Given the description of an element on the screen output the (x, y) to click on. 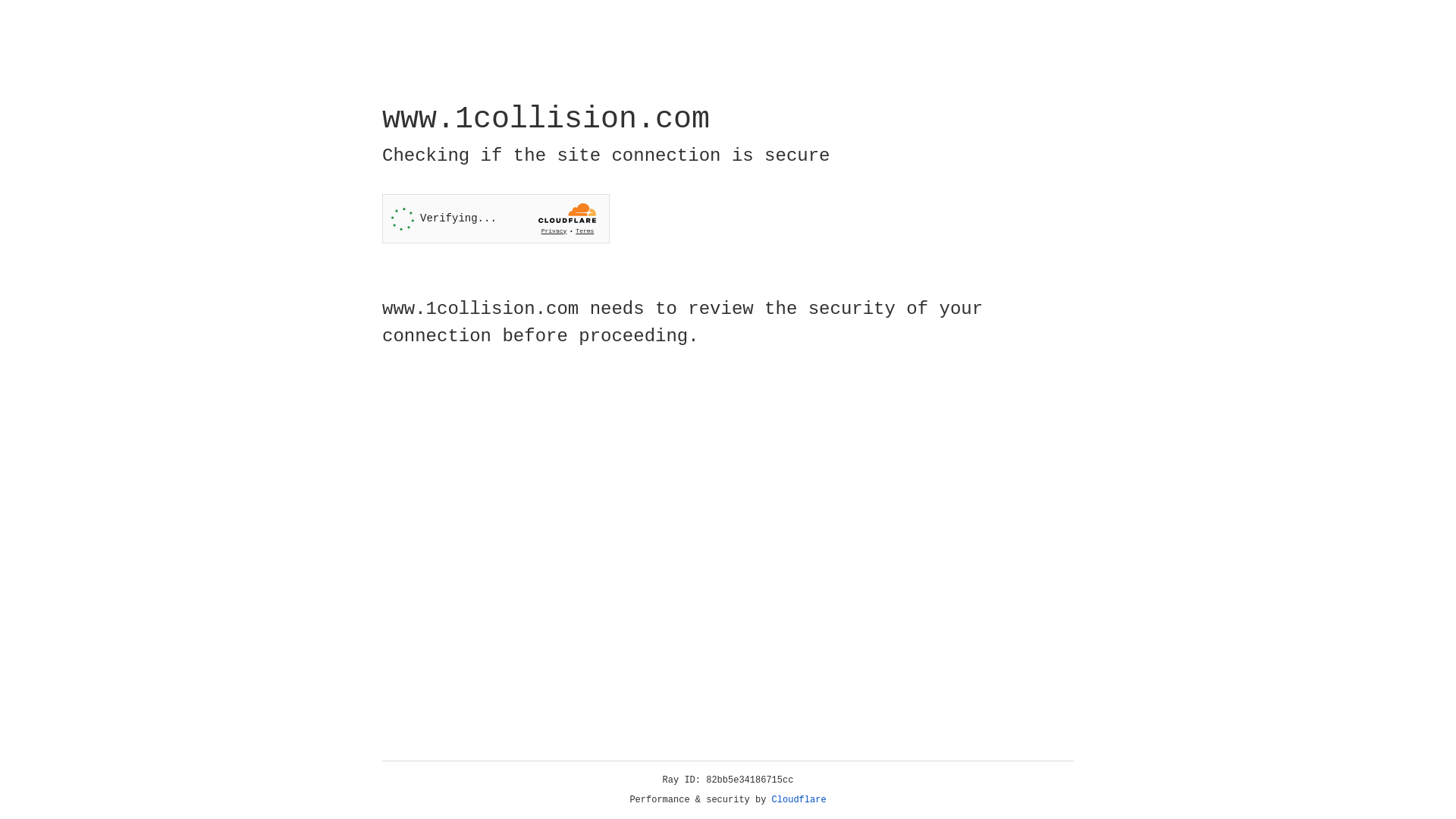
Cloudflare Element type: text (798, 799)
Widget containing a Cloudflare security challenge Element type: hover (495, 218)
